Given the description of an element on the screen output the (x, y) to click on. 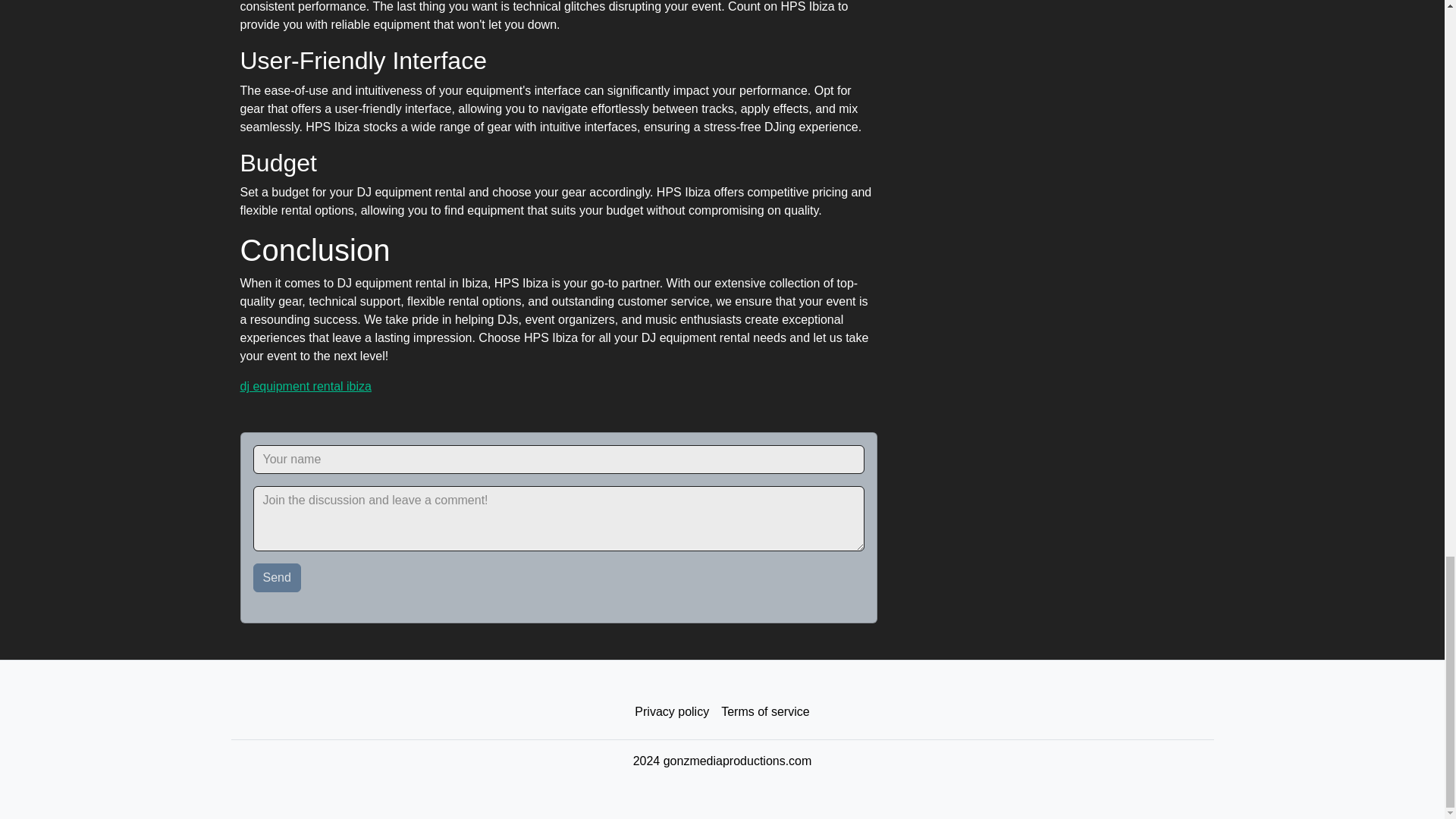
dj equipment rental ibiza (305, 386)
Privacy policy (671, 711)
Send (277, 577)
Terms of service (764, 711)
Send (277, 577)
